Given the description of an element on the screen output the (x, y) to click on. 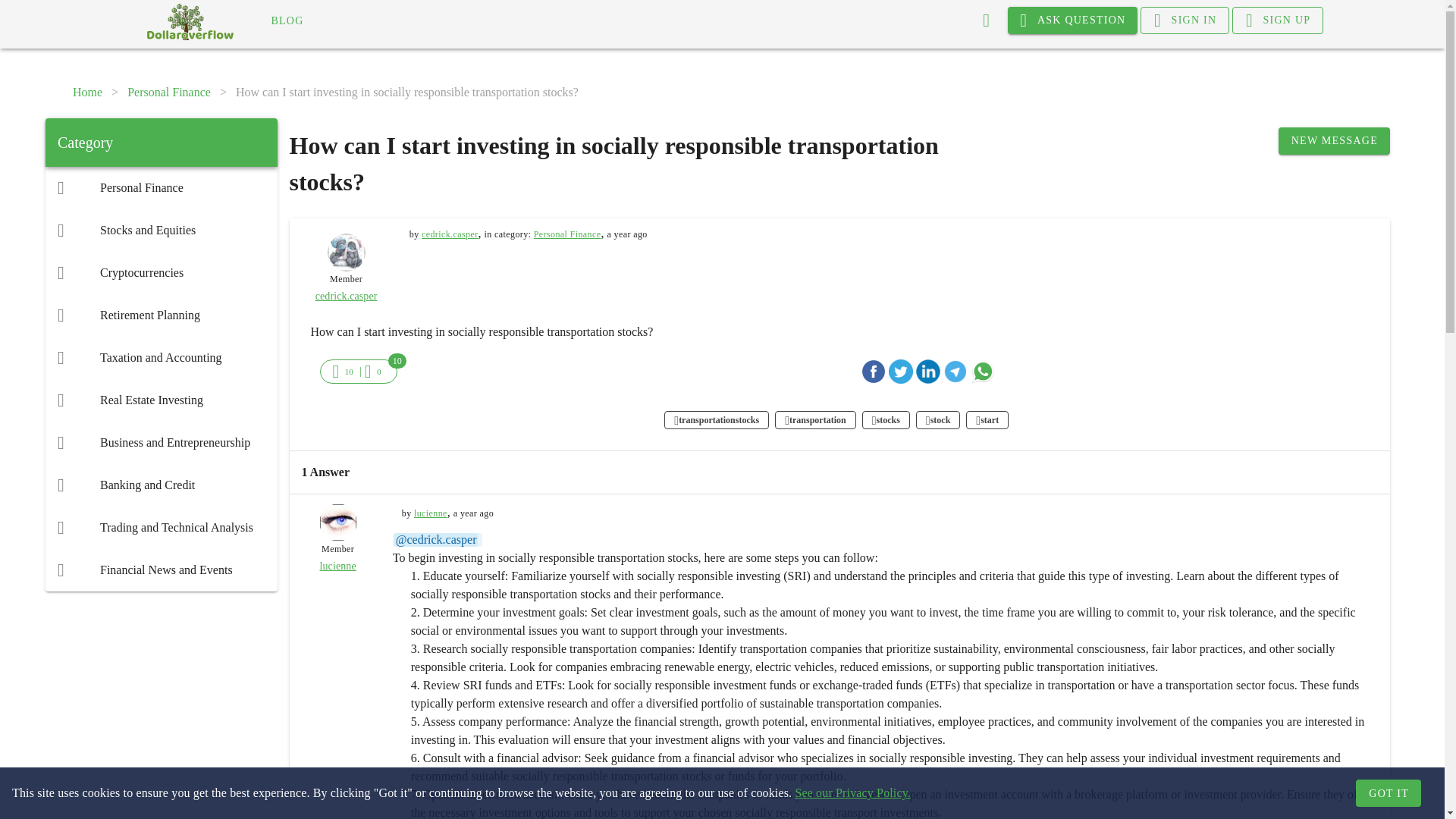
Business and Entrepreneurship (161, 442)
cedrick.casper (346, 296)
Financial News and Events (161, 569)
BLOG (286, 21)
Personal Finance (169, 92)
Home (86, 92)
NEW MESSAGE (1334, 140)
Personal Finance (161, 188)
SIGN IN (1184, 20)
Advertisement (160, 698)
Real Estate Investing (161, 400)
Whatsapp (982, 371)
Retirement Planning (161, 315)
10 likes (349, 370)
Stocks and Equities (161, 230)
